Given the description of an element on the screen output the (x, y) to click on. 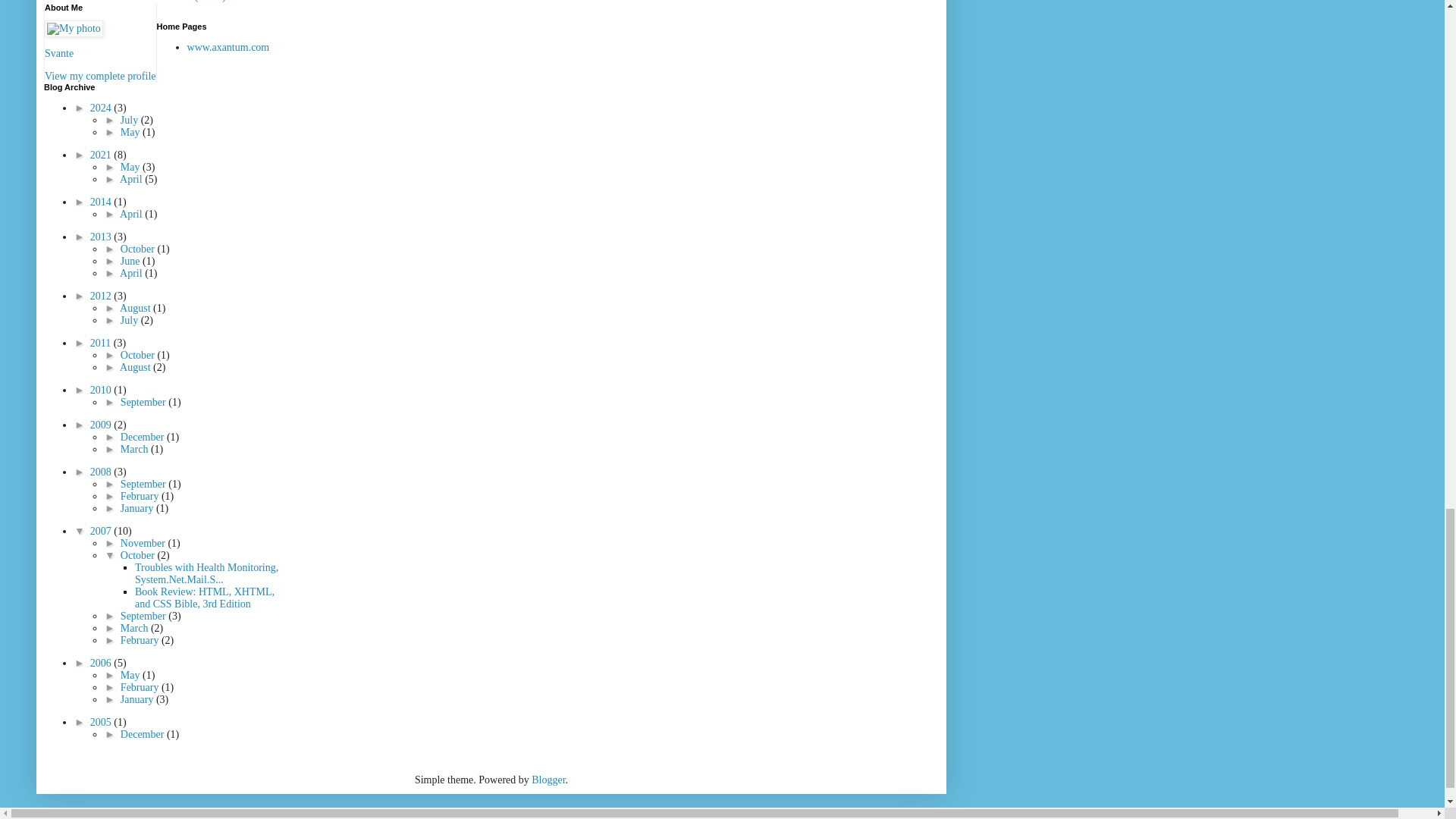
May (131, 166)
2024 (102, 107)
2014 (102, 202)
July (130, 120)
View my complete profile (100, 75)
2021 (102, 154)
2013 (102, 236)
May (131, 132)
April (131, 179)
Svante (59, 52)
www.axantum.com (228, 47)
April (131, 214)
